Given the description of an element on the screen output the (x, y) to click on. 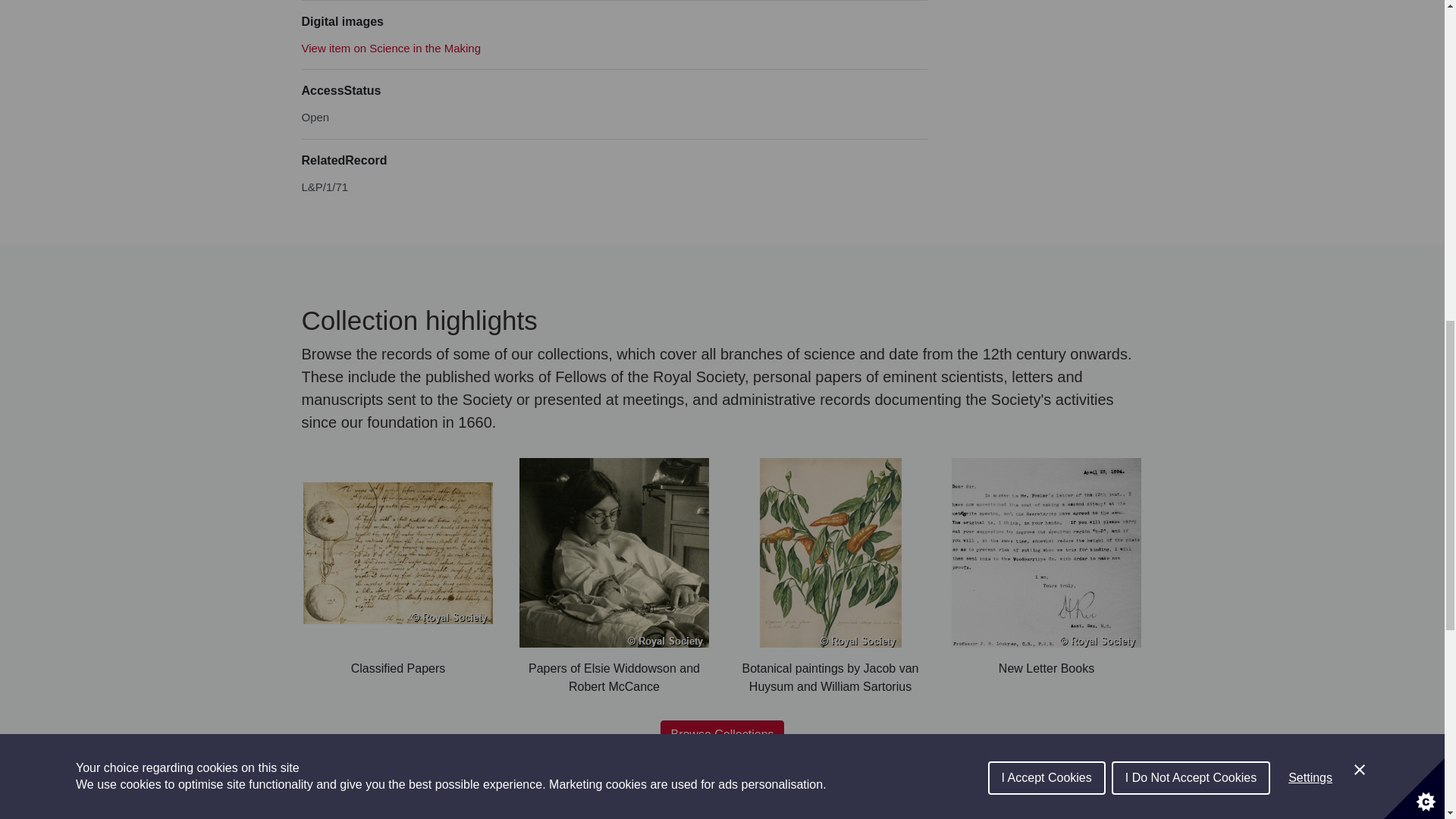
Browse Collections (722, 734)
I Do Not Accept Cookies (1190, 24)
View item on Science in the Making (391, 47)
Settings (1309, 12)
I Accept Cookies (1046, 32)
